Given the description of an element on the screen output the (x, y) to click on. 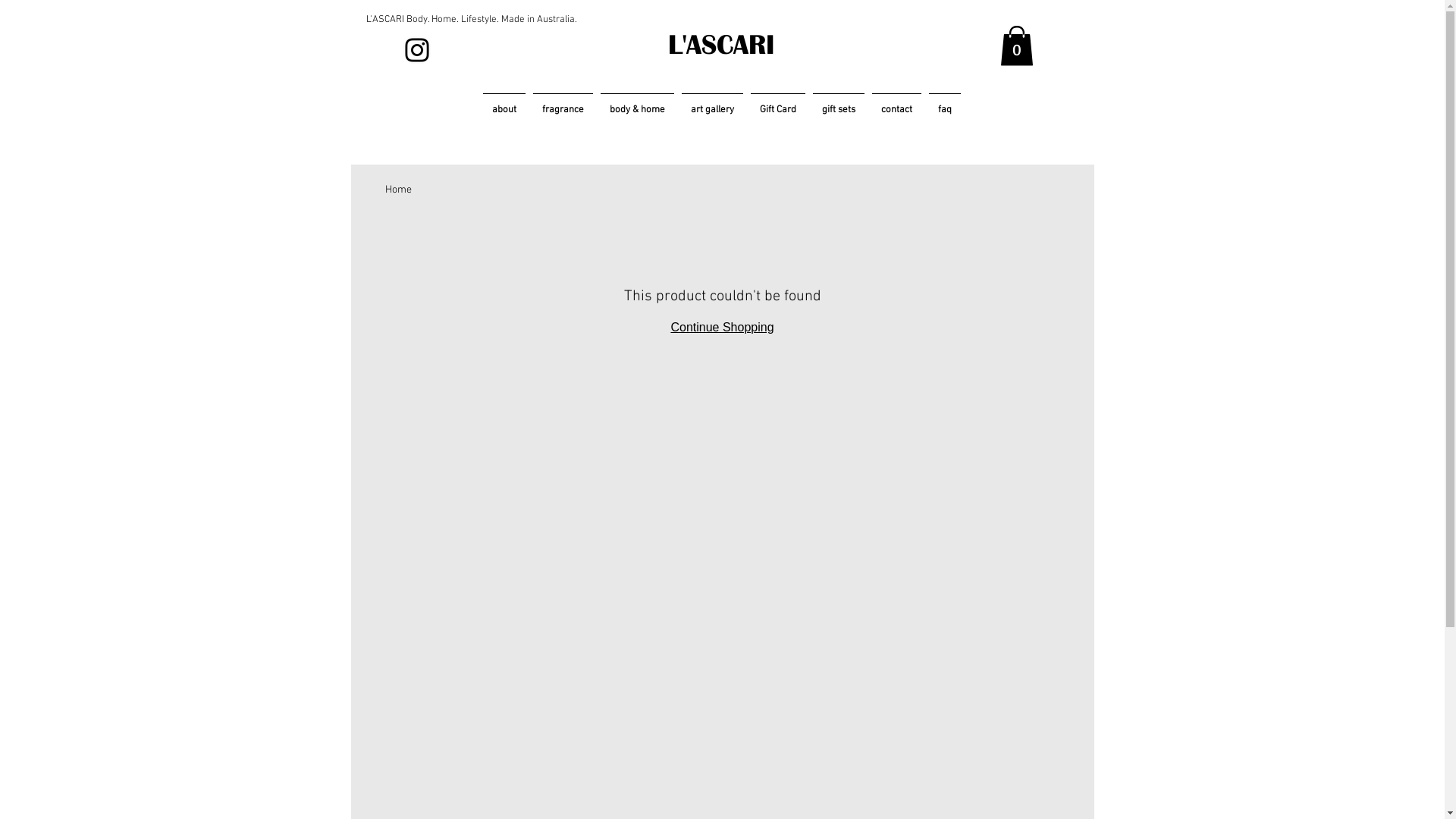
0 Element type: text (1015, 45)
gift sets Element type: text (837, 102)
faq Element type: text (944, 102)
fragrance Element type: text (562, 102)
Continue Shopping Element type: text (721, 326)
body & home Element type: text (636, 102)
art gallery Element type: text (711, 102)
Home Element type: text (398, 189)
about Element type: text (504, 102)
contact Element type: text (895, 102)
Gift Card Element type: text (777, 102)
